Given the description of an element on the screen output the (x, y) to click on. 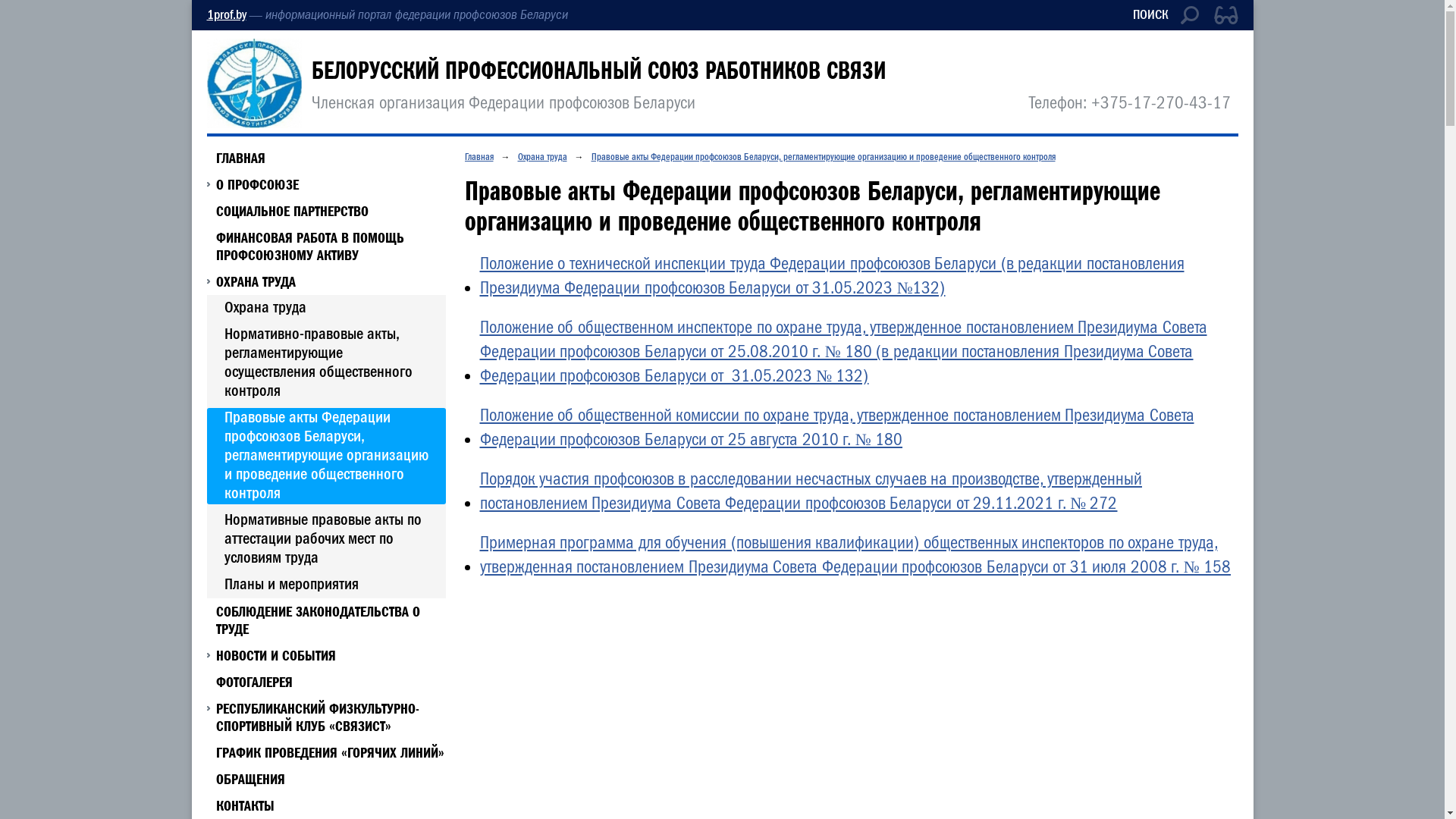
1prof.by Element type: text (225, 14)
